Given the description of an element on the screen output the (x, y) to click on. 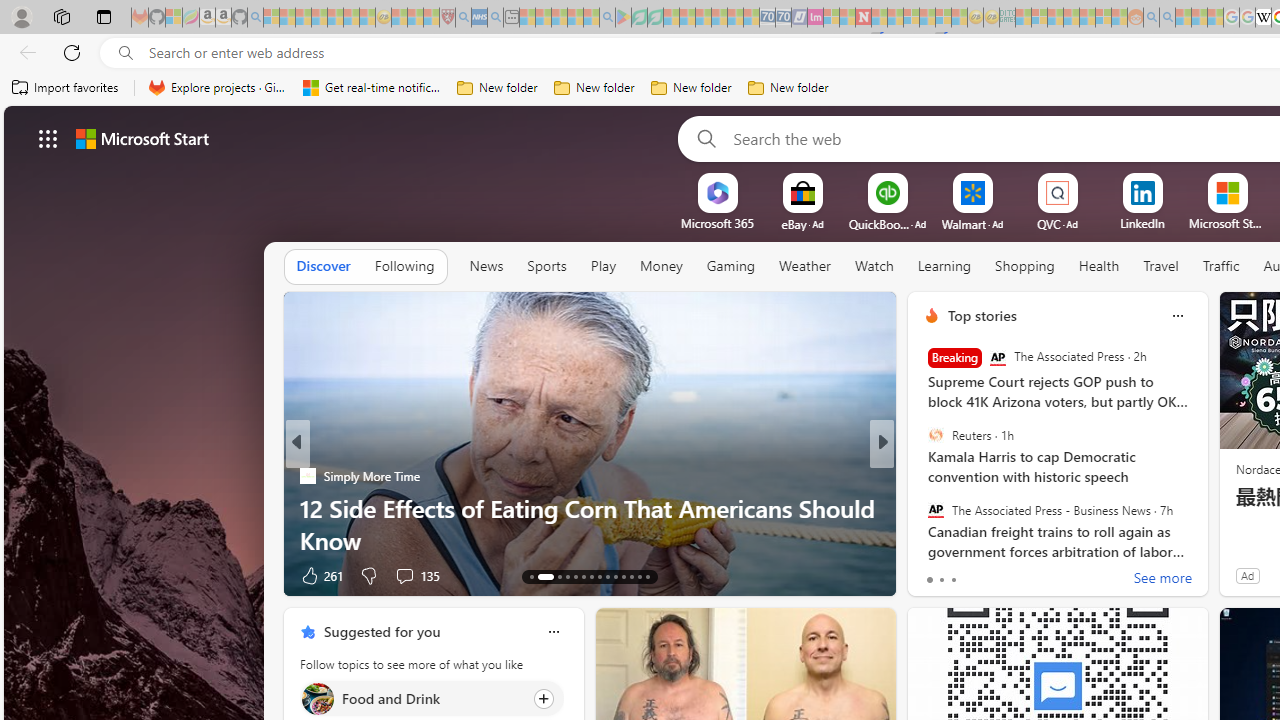
View comments 67 Comment (1021, 574)
NCL Adult Asthma Inhaler Choice Guideline - Sleeping (479, 17)
Health (1098, 267)
69 Like (934, 574)
Traffic (1220, 265)
Why Some People Wait To Die Until They're Alone (589, 539)
View comments 81 Comment (1029, 574)
Pets - MSN - Sleeping (575, 17)
Cheap Hotels - Save70.com - Sleeping (783, 17)
